Given the description of an element on the screen output the (x, y) to click on. 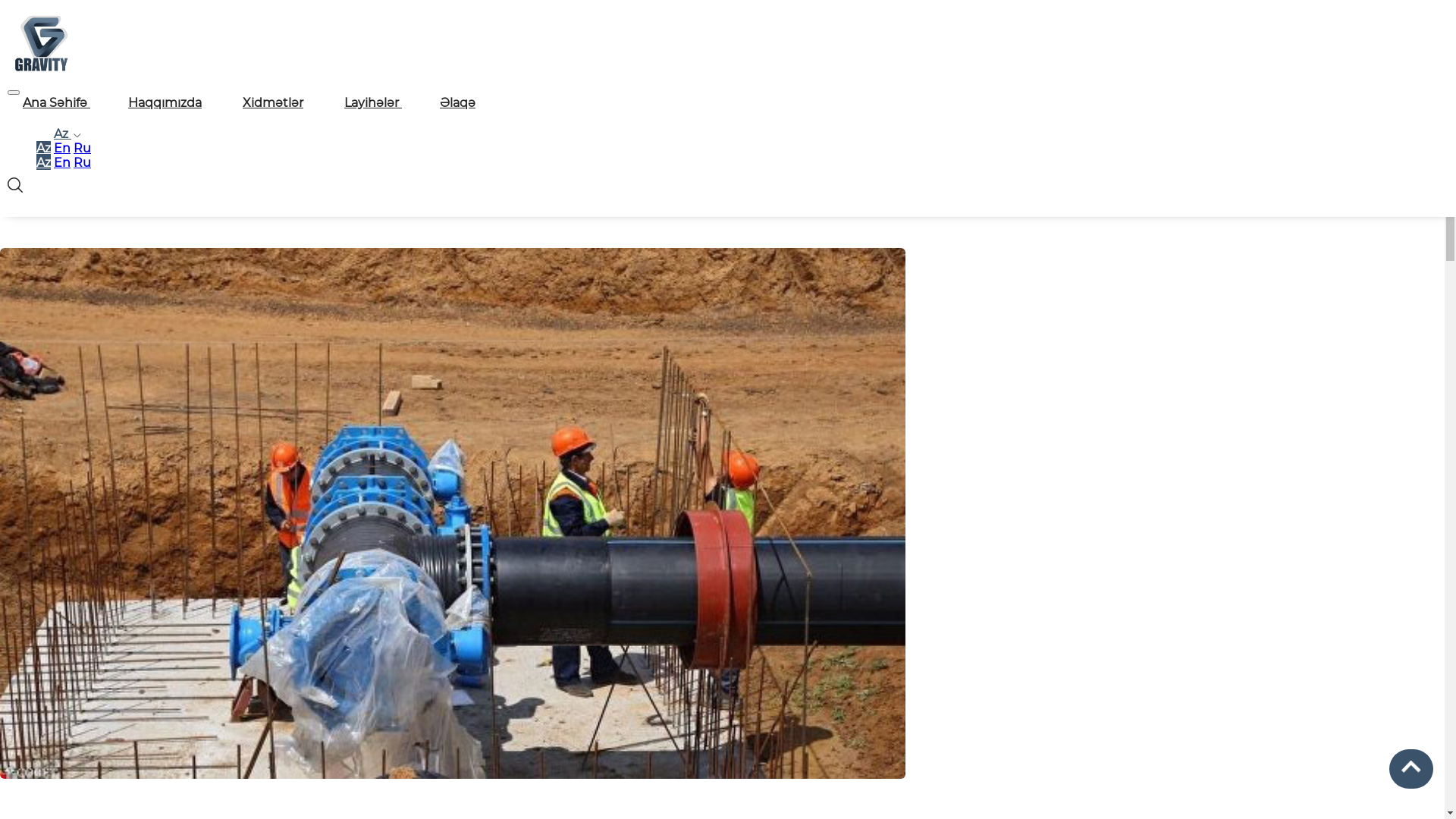
Ru Element type: text (82, 162)
En Element type: text (61, 162)
Az Element type: text (43, 162)
Ru Element type: text (82, 148)
Az Element type: text (65, 133)
En Element type: text (61, 148)
Az Element type: text (43, 148)
